Given the description of an element on the screen output the (x, y) to click on. 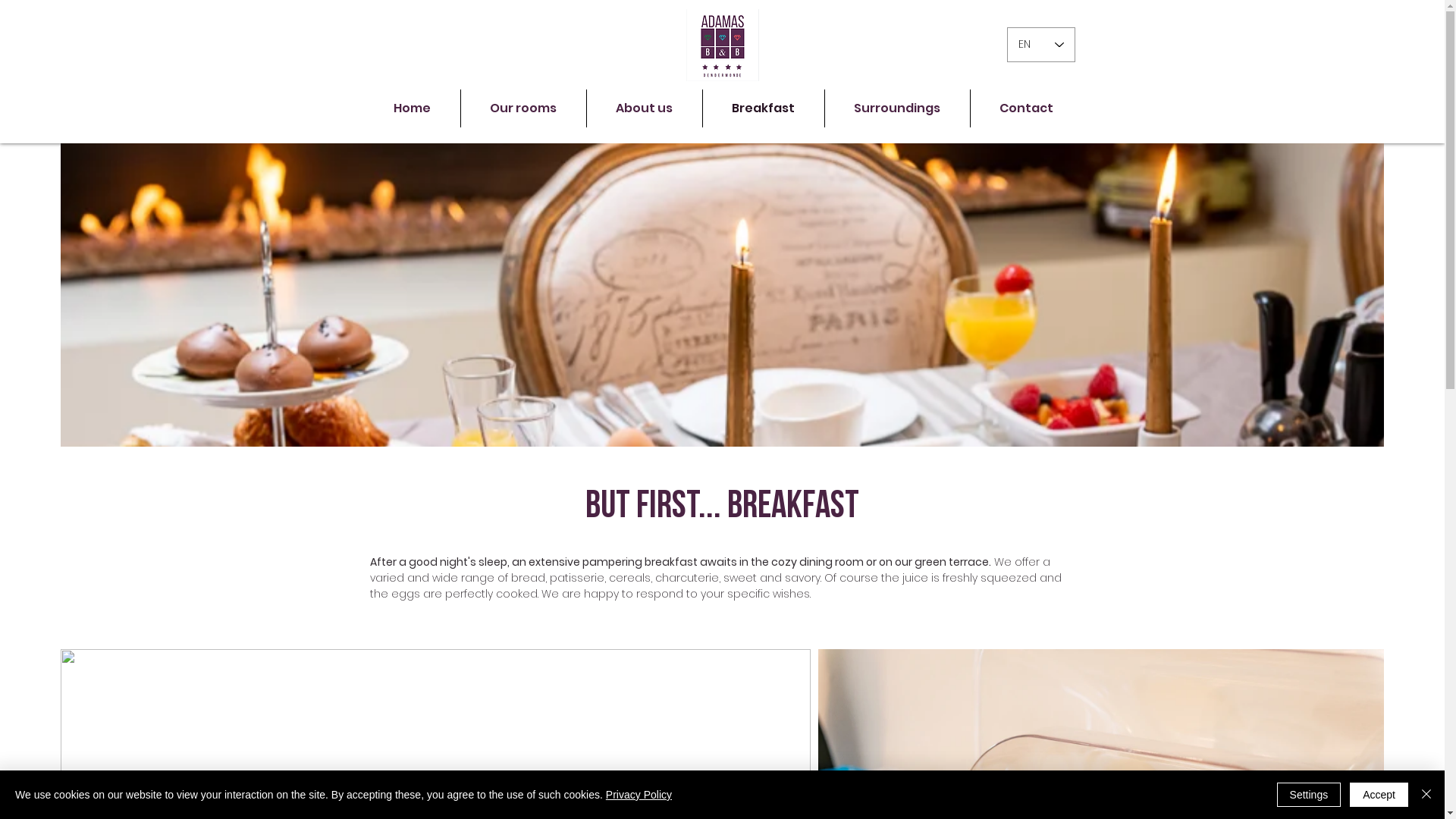
Our rooms Element type: text (523, 108)
Breakfast Element type: text (762, 108)
Accept Element type: text (1378, 794)
Settings Element type: text (1309, 794)
About us Element type: text (644, 108)
Contact Element type: text (1026, 108)
Surroundings Element type: text (897, 108)
Home Element type: text (411, 108)
Privacy Policy Element type: text (638, 794)
